Given the description of an element on the screen output the (x, y) to click on. 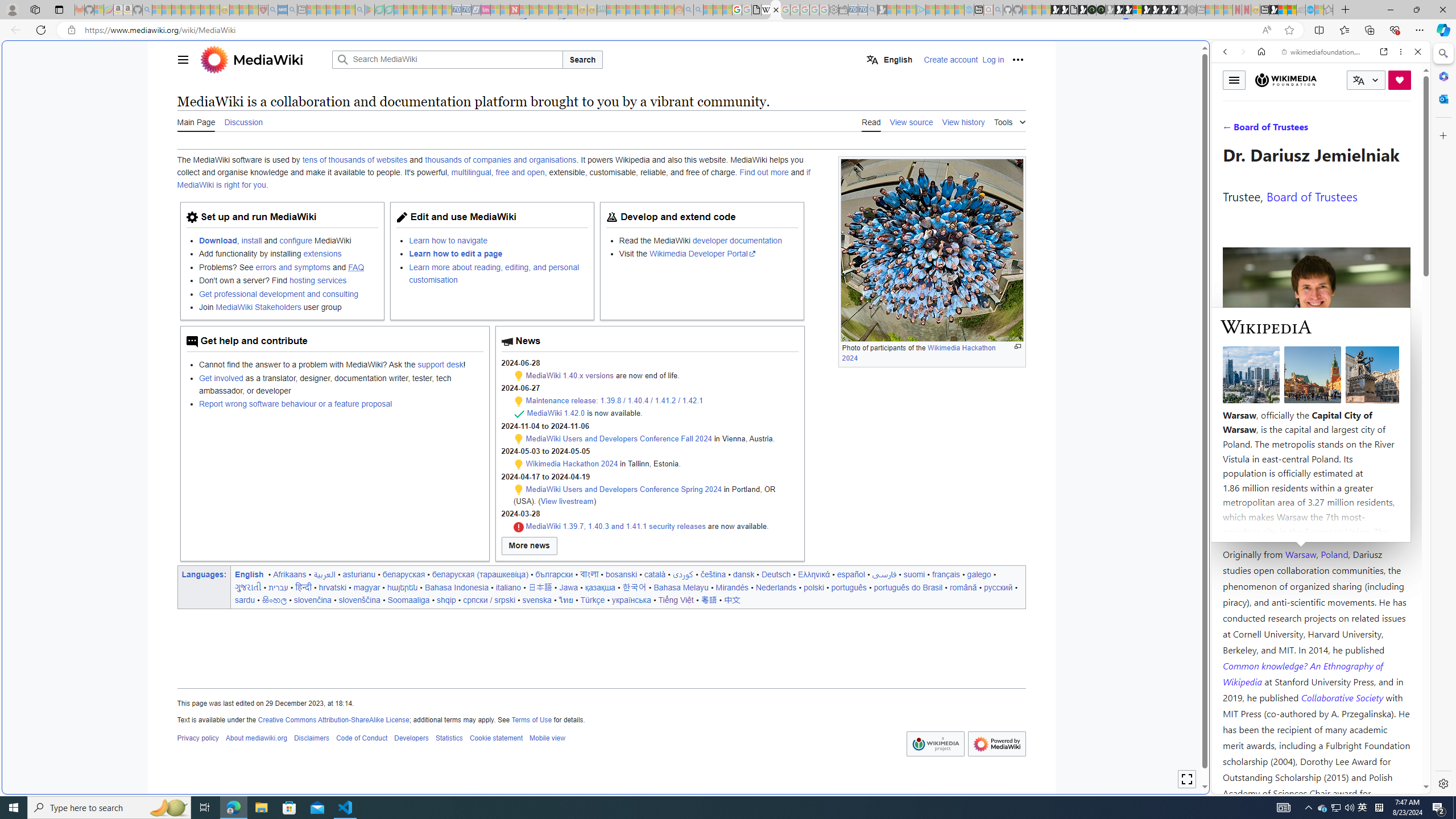
Statistics (449, 738)
Learn how to edit a page (498, 253)
suomi (914, 574)
Target page - Wikipedia (766, 9)
Read (870, 121)
